Given the description of an element on the screen output the (x, y) to click on. 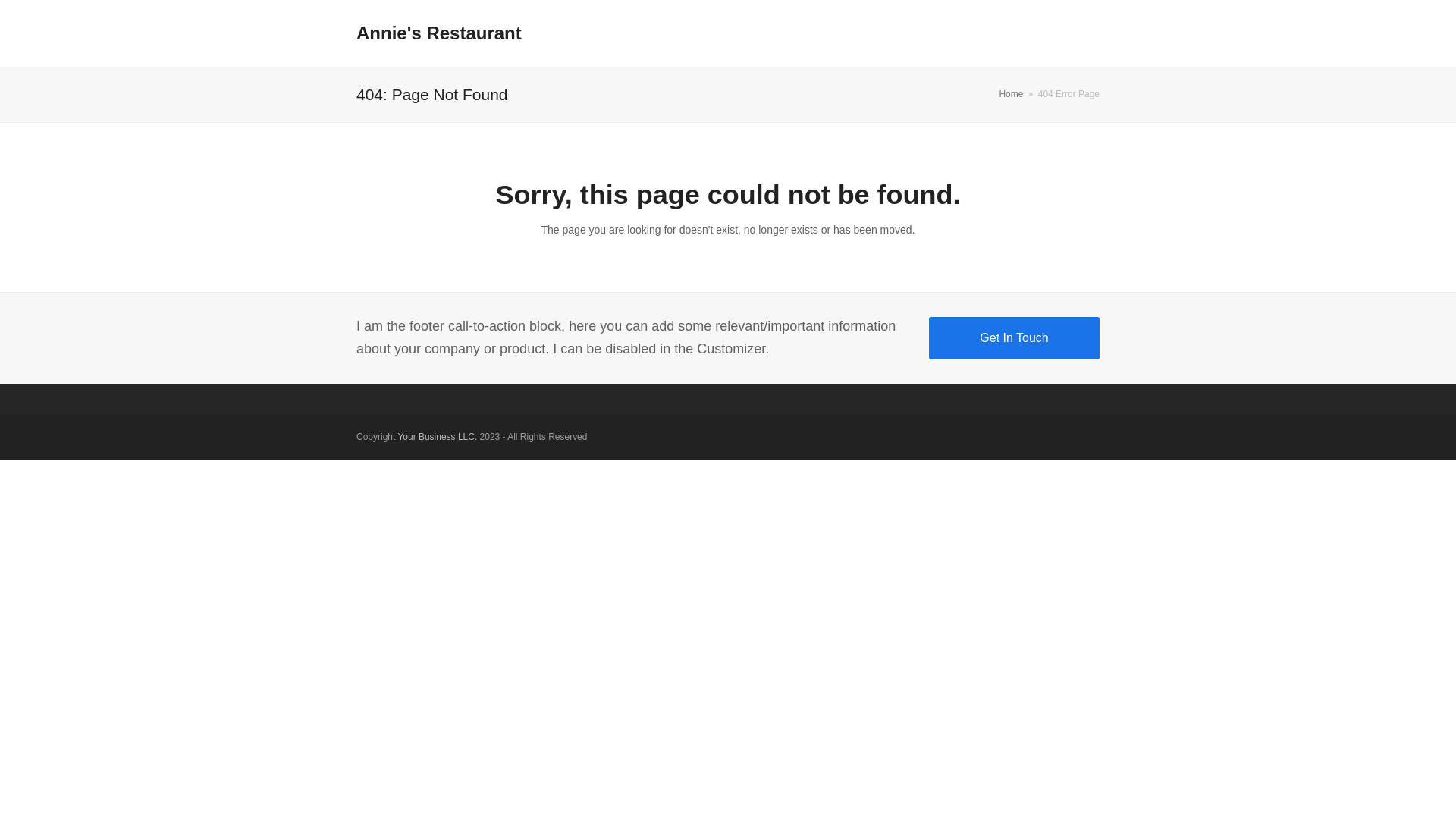
Your Business LLC. Element type: text (436, 436)
Annie's Restaurant Element type: text (438, 32)
Home Element type: text (1010, 93)
Get In Touch Element type: text (1013, 337)
